Given the description of an element on the screen output the (x, y) to click on. 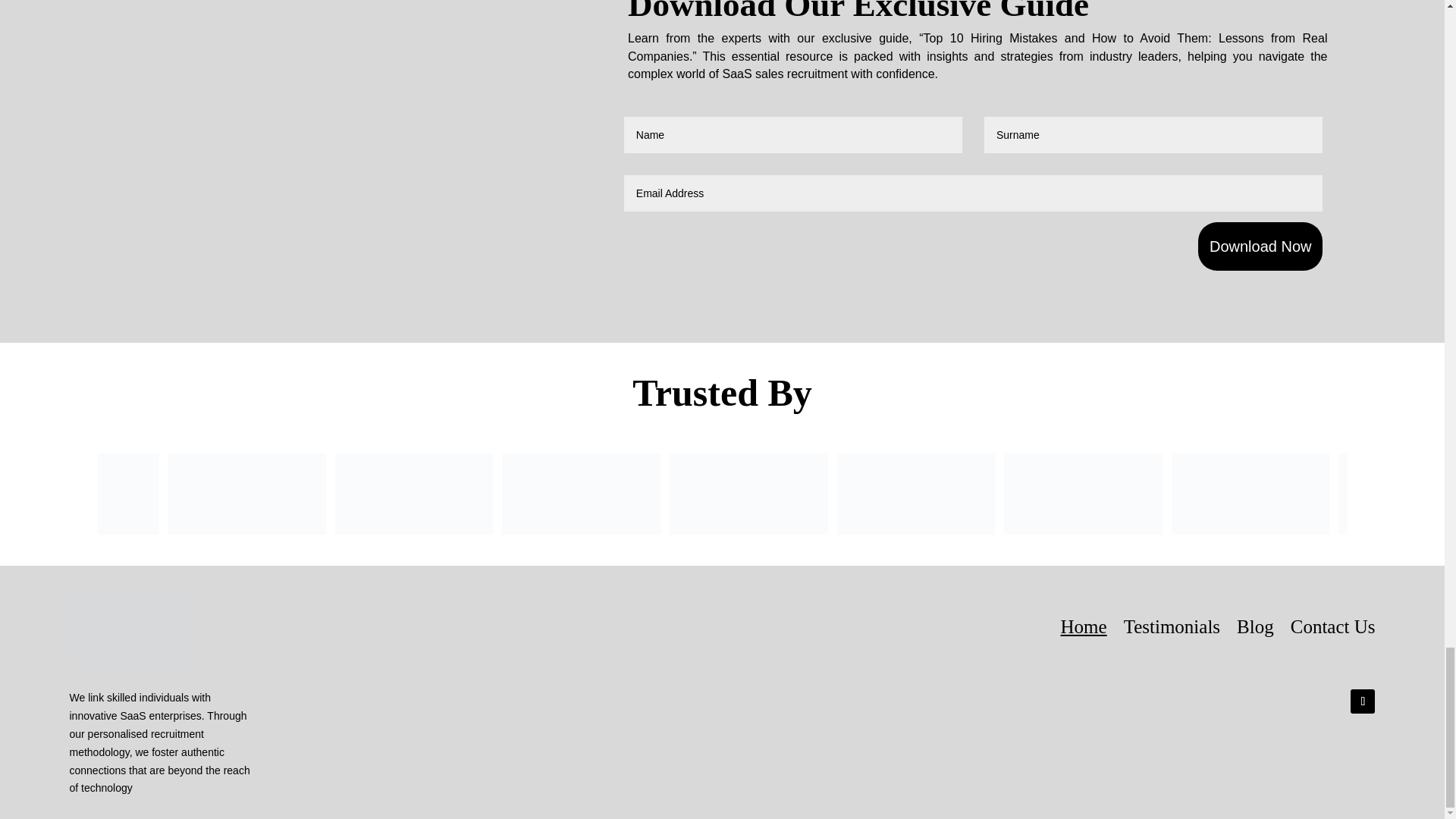
Contact Us (1332, 626)
Follow on LinkedIn (1362, 701)
Testimonials (1172, 626)
Download Now (1260, 246)
